Given the description of an element on the screen output the (x, y) to click on. 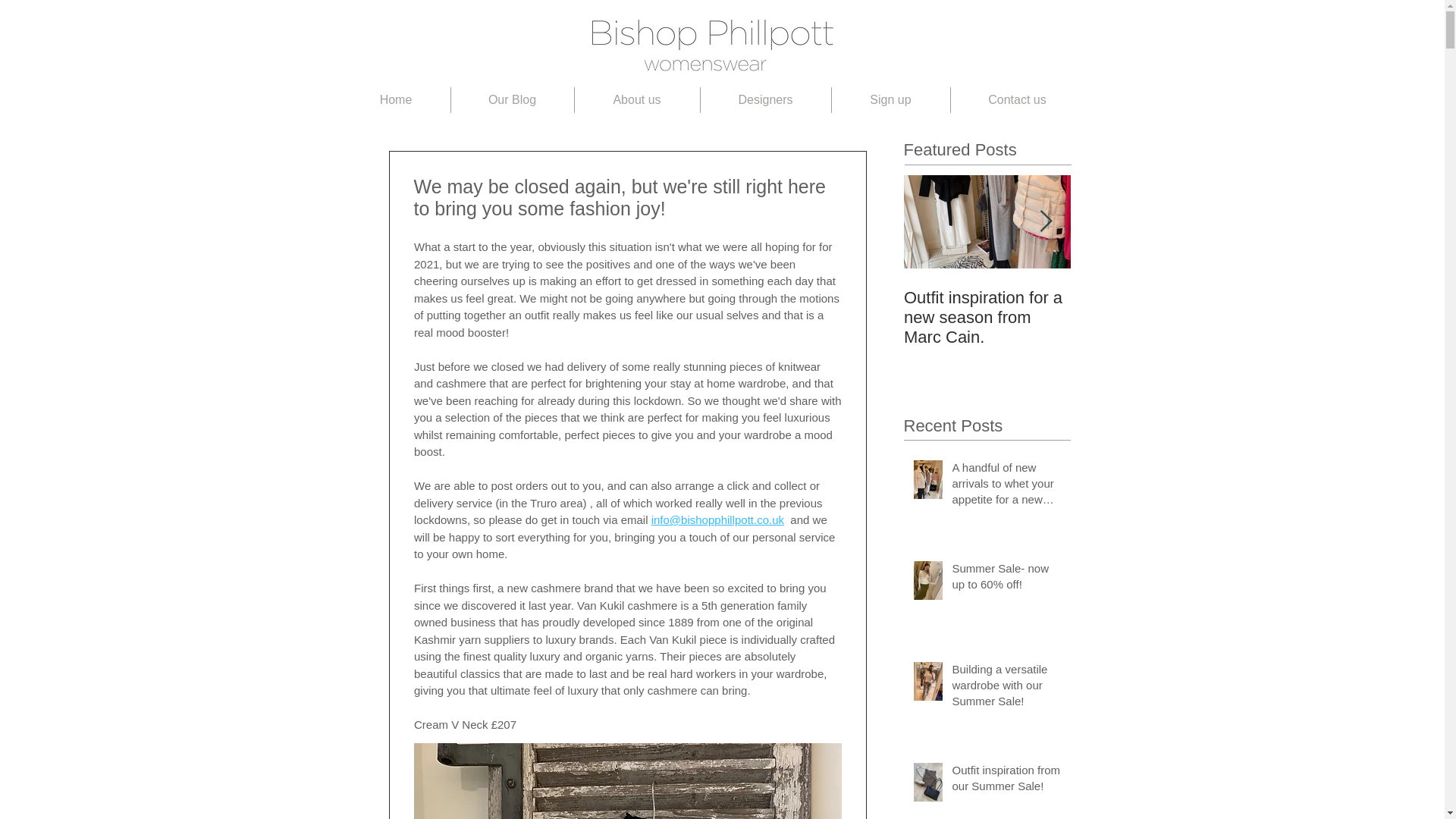
Building a versatile wardrobe with our Summer Sale! (1006, 687)
Designers (765, 99)
Contact us (1017, 99)
Outfit inspiration for a new season from Marc Cain. (987, 317)
About us (637, 99)
Outfit inspiration from our Summer Sale! (1006, 781)
Our Blog (511, 99)
Sign up (890, 99)
